Given the description of an element on the screen output the (x, y) to click on. 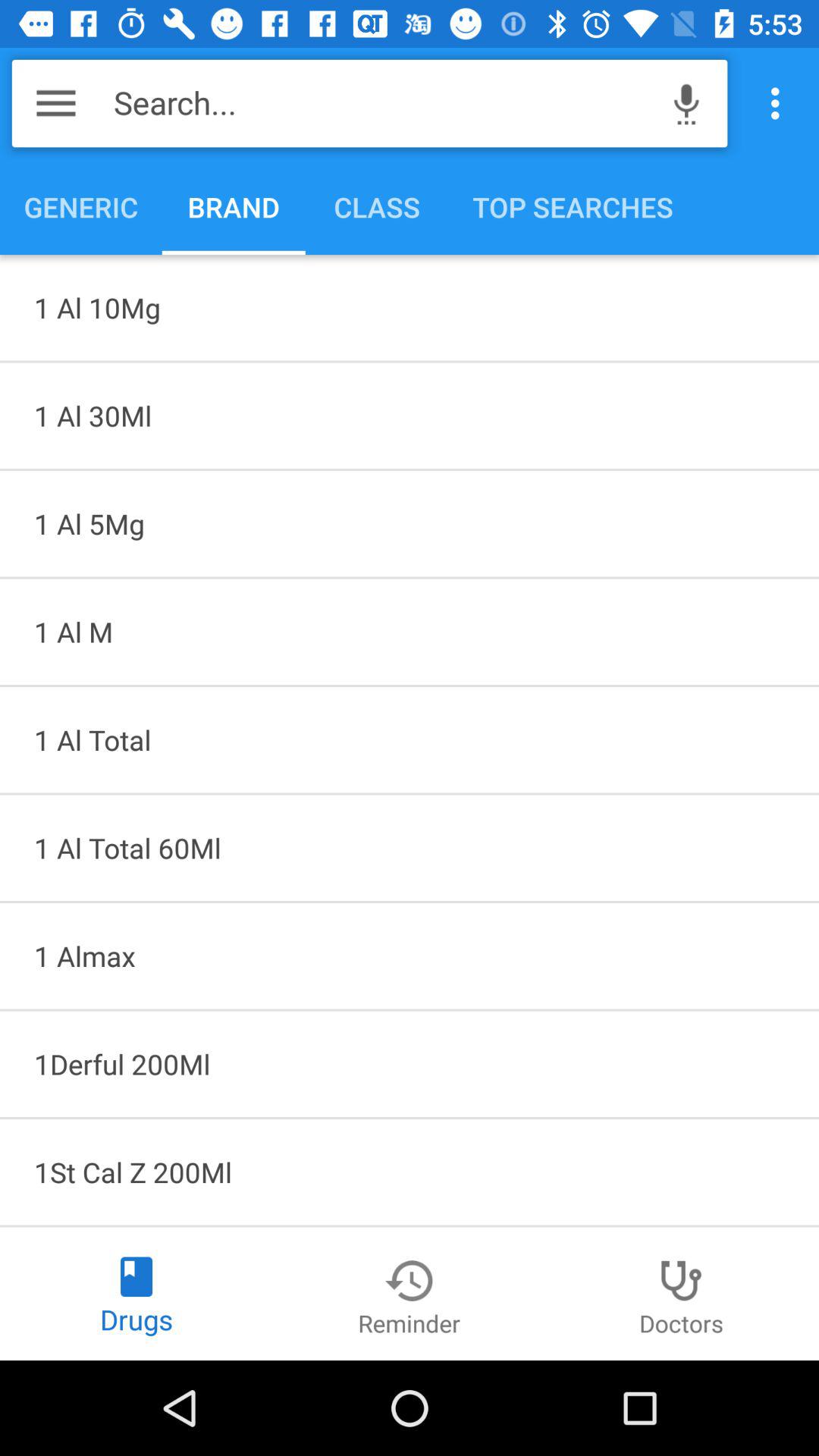
flip until the 1derful 200ml icon (409, 1063)
